Given the description of an element on the screen output the (x, y) to click on. 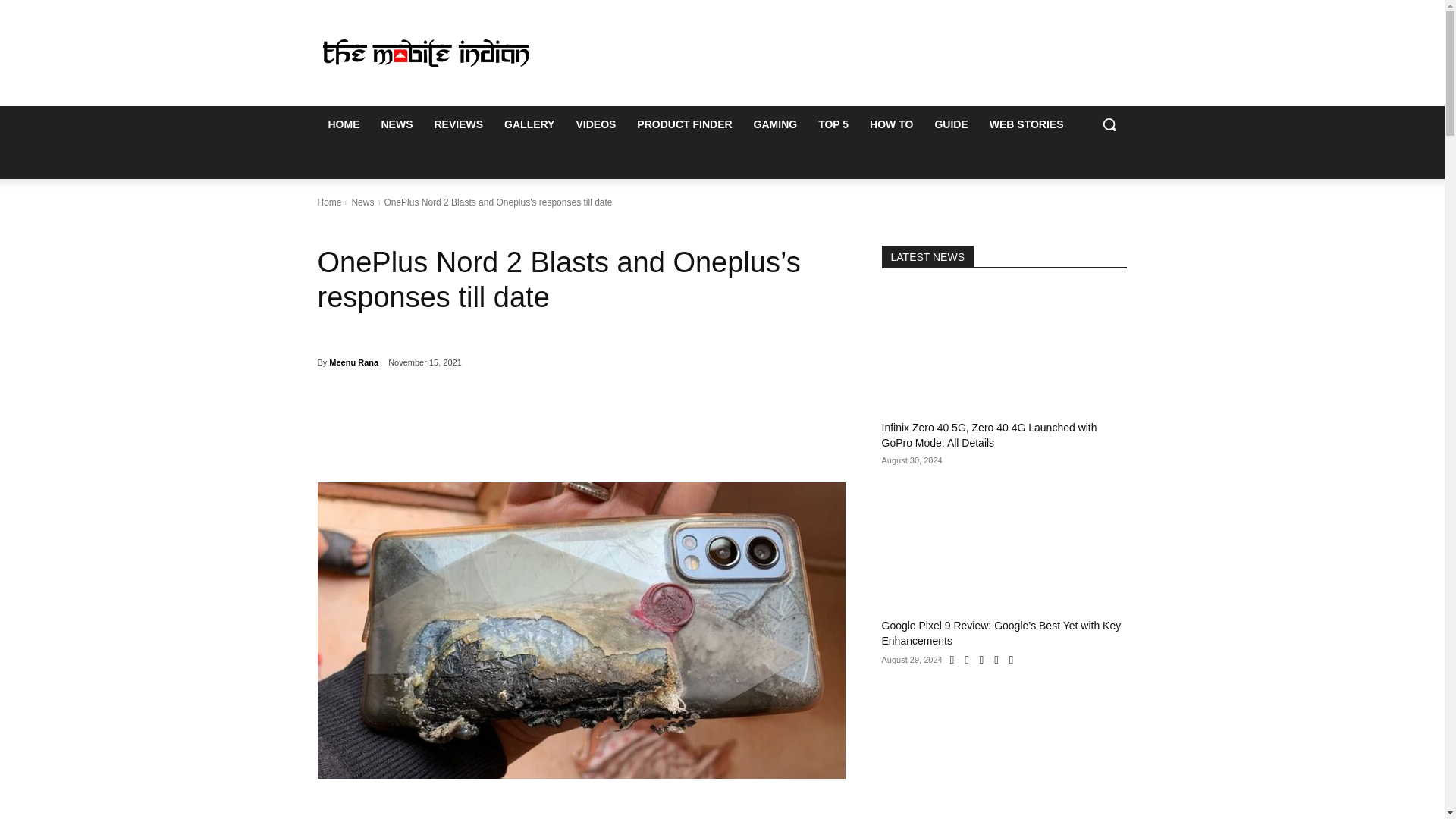
News (362, 202)
Home (328, 202)
Meenu Rana (353, 362)
WEB STORIES (1026, 124)
GAMING (775, 124)
REVIEWS (458, 124)
HOW TO (891, 124)
View all posts in News (362, 202)
The Mobile Indian (425, 52)
